Given the description of an element on the screen output the (x, y) to click on. 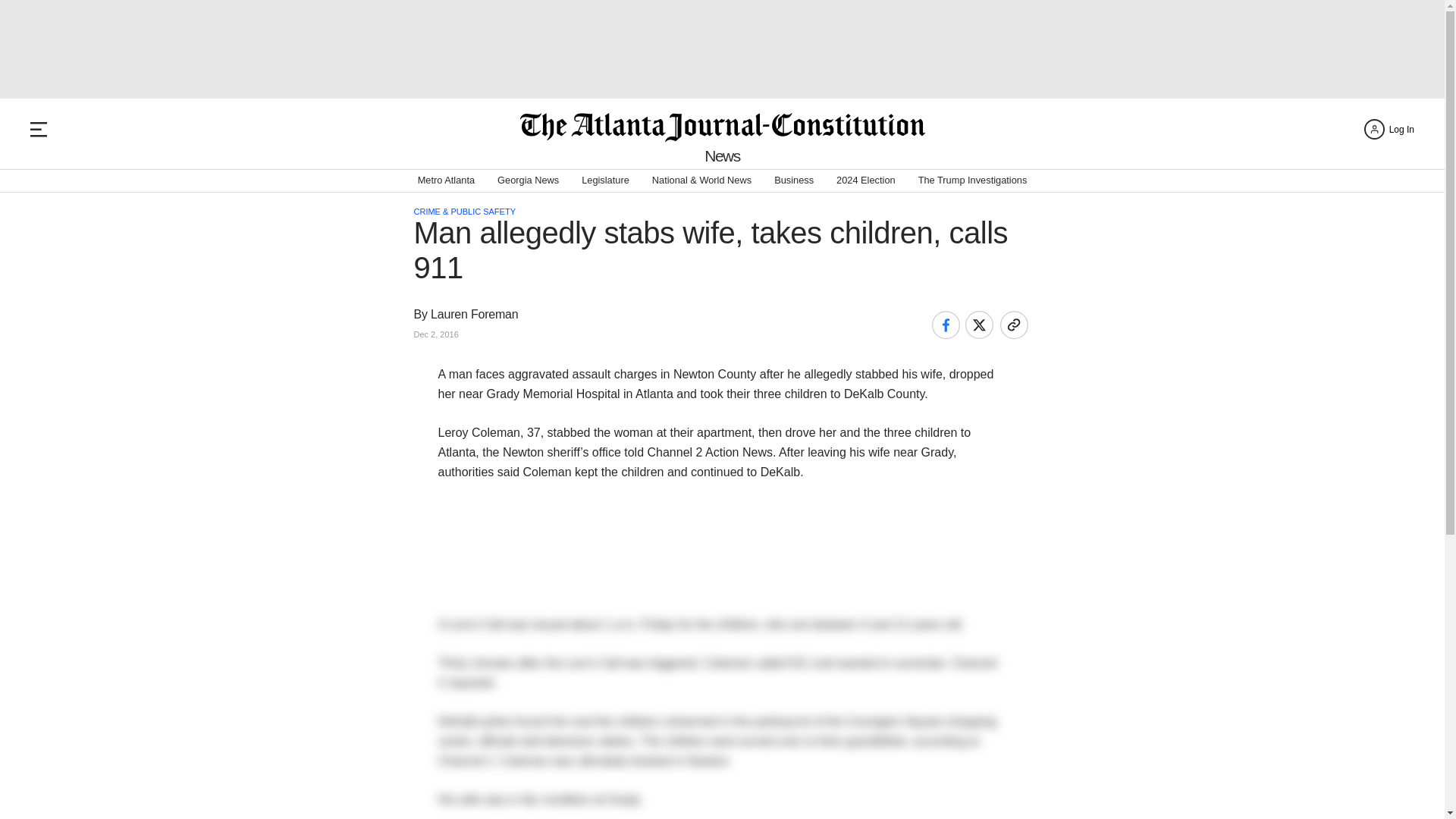
Business (793, 180)
Legislature (604, 180)
News (721, 155)
Georgia News (528, 180)
Metro Atlanta (445, 180)
The Trump Investigations (972, 180)
2024 Election (865, 180)
